Given the description of an element on the screen output the (x, y) to click on. 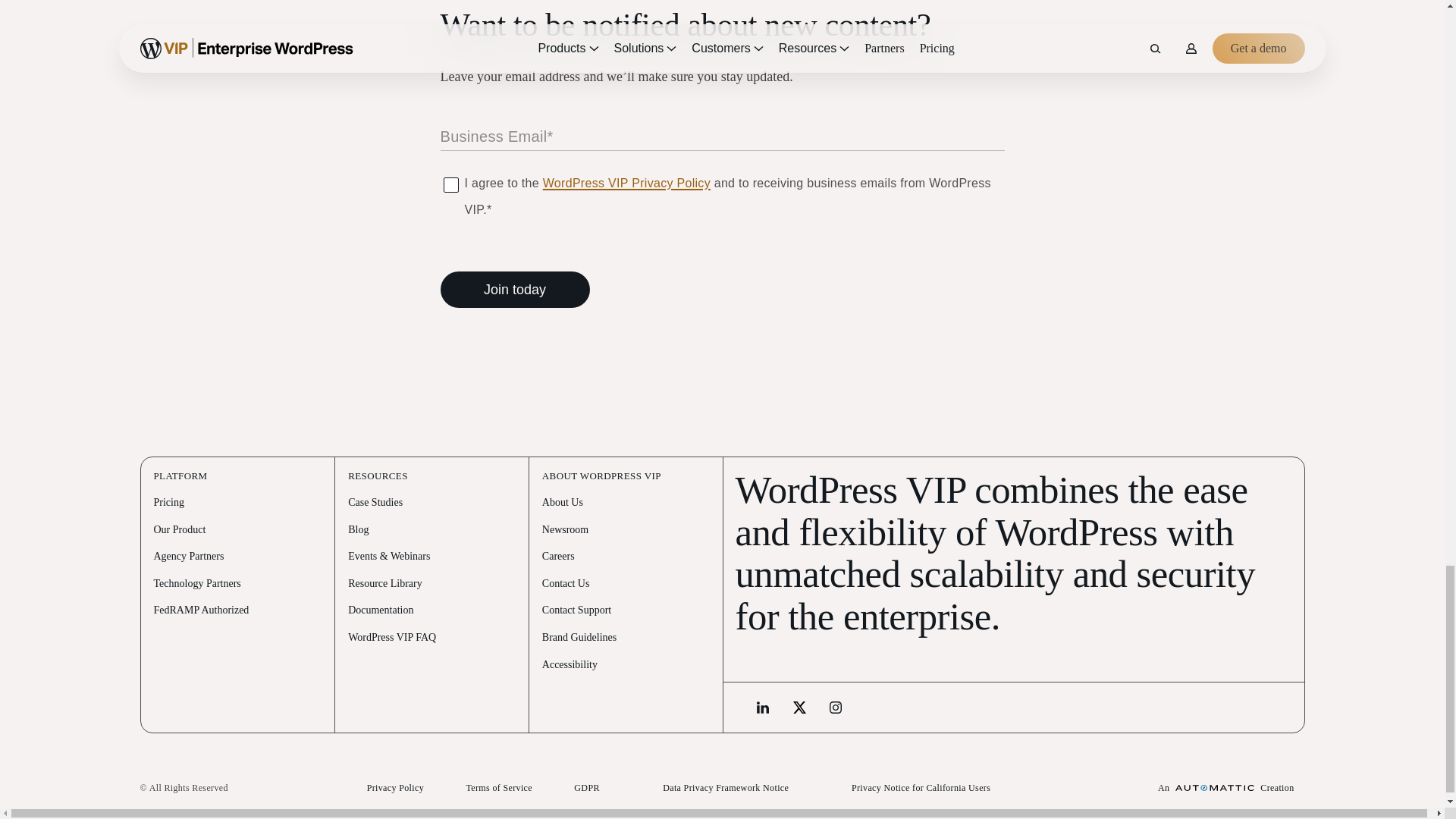
true (449, 184)
Join today (514, 289)
